Given the description of an element on the screen output the (x, y) to click on. 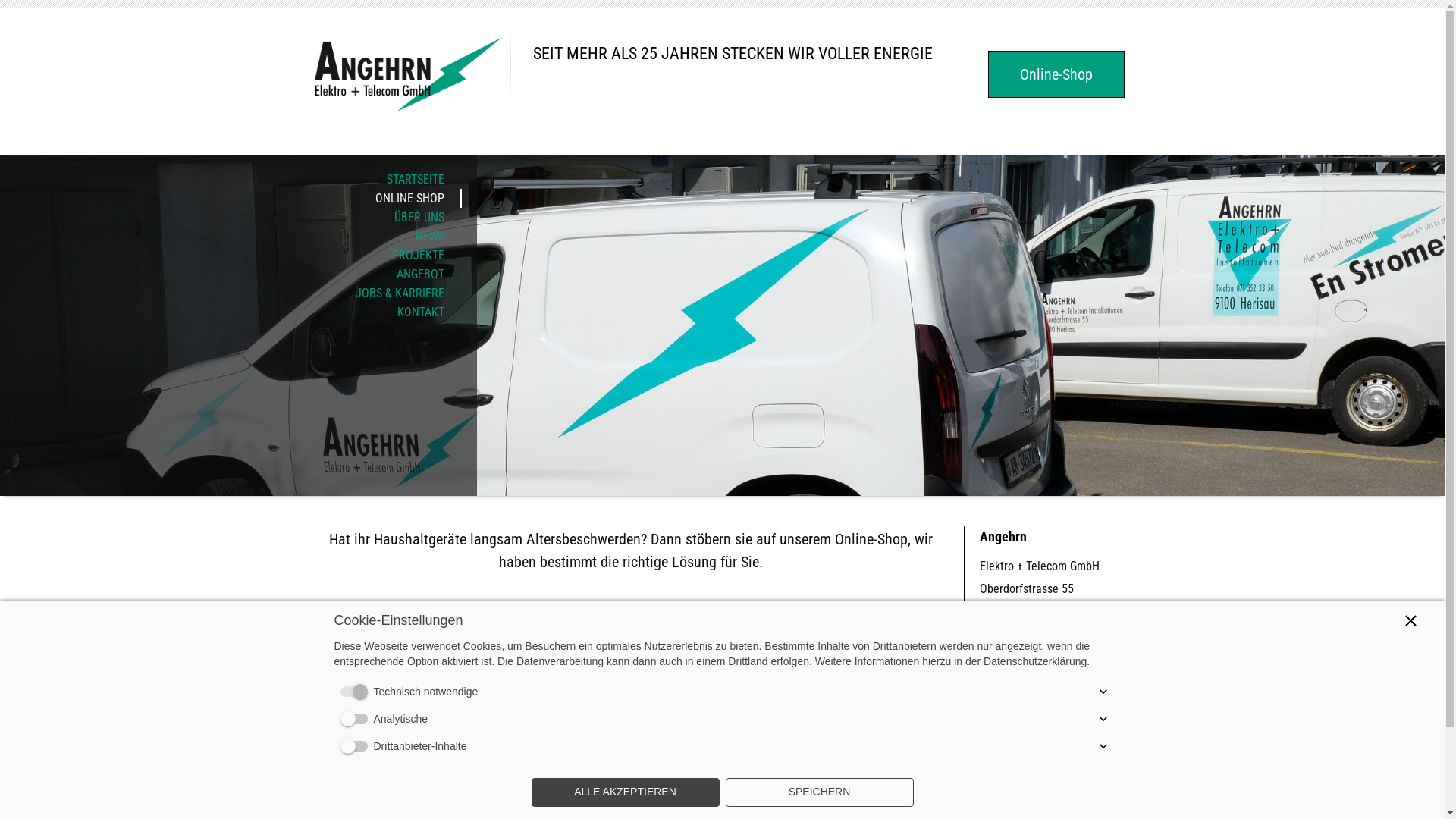
Online-Shop Element type: text (1055, 73)
STARTSEITE Element type: text (230, 178)
ANGEBOT Element type: text (230, 273)
NEWS Element type: text (230, 235)
info@angehrn-elektro.ch Element type: text (1030, 683)
KONTAKT Element type: text (230, 311)
PROJEKTE Element type: text (230, 254)
SPEICHERN Element type: text (818, 792)
ONLINE-SHOP Element type: text (230, 197)
Online-Shop Element type: text (629, 632)
ALLE AKZEPTIEREN Element type: text (624, 792)
JOBS & KARRIERE Element type: text (230, 292)
